Given the description of an element on the screen output the (x, y) to click on. 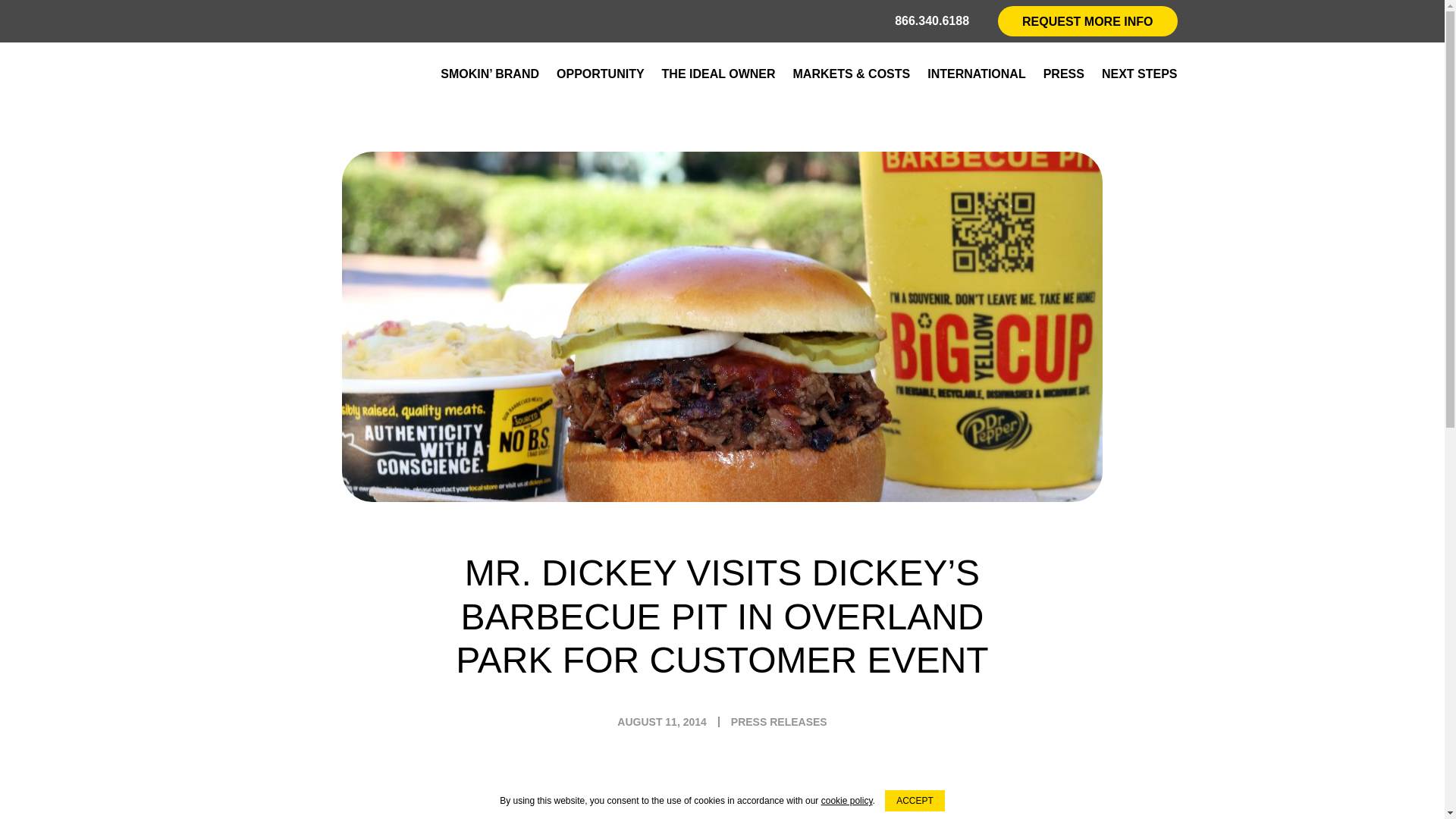
REQUEST MORE INFO (1086, 20)
THE IDEAL OWNER (719, 74)
INTERNATIONAL (976, 74)
NEXT STEPS (1139, 74)
PRESS (1063, 74)
OPPORTUNITY (600, 74)
cookie policy (846, 800)
866.340.6188 (932, 21)
PRESS RELEASES (778, 721)
Privacy Policy (846, 800)
